Given the description of an element on the screen output the (x, y) to click on. 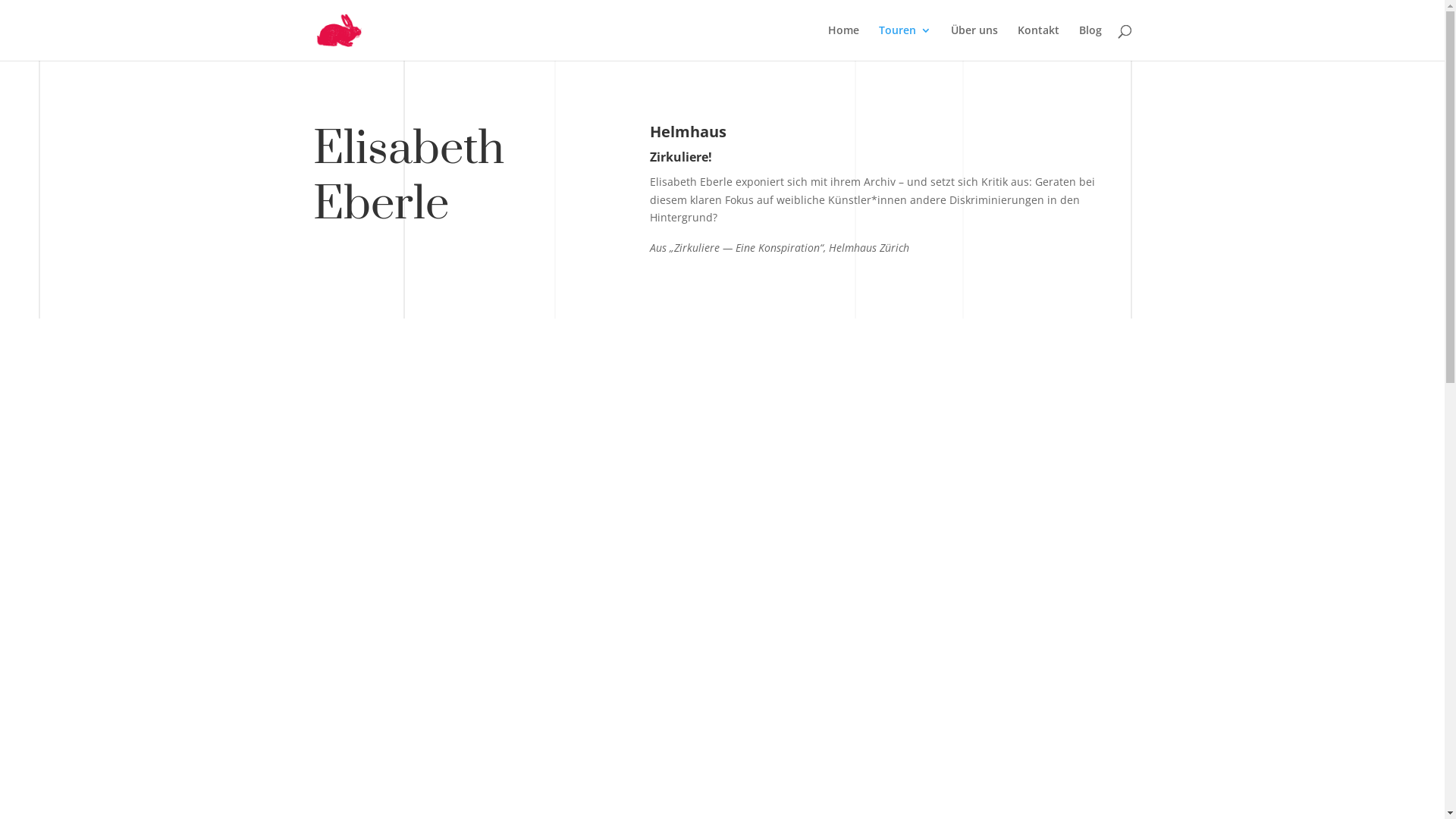
Home Element type: text (843, 42)
Kontakt Element type: text (1038, 42)
Blog Element type: text (1089, 42)
Touren Element type: text (904, 42)
